Given the description of an element on the screen output the (x, y) to click on. 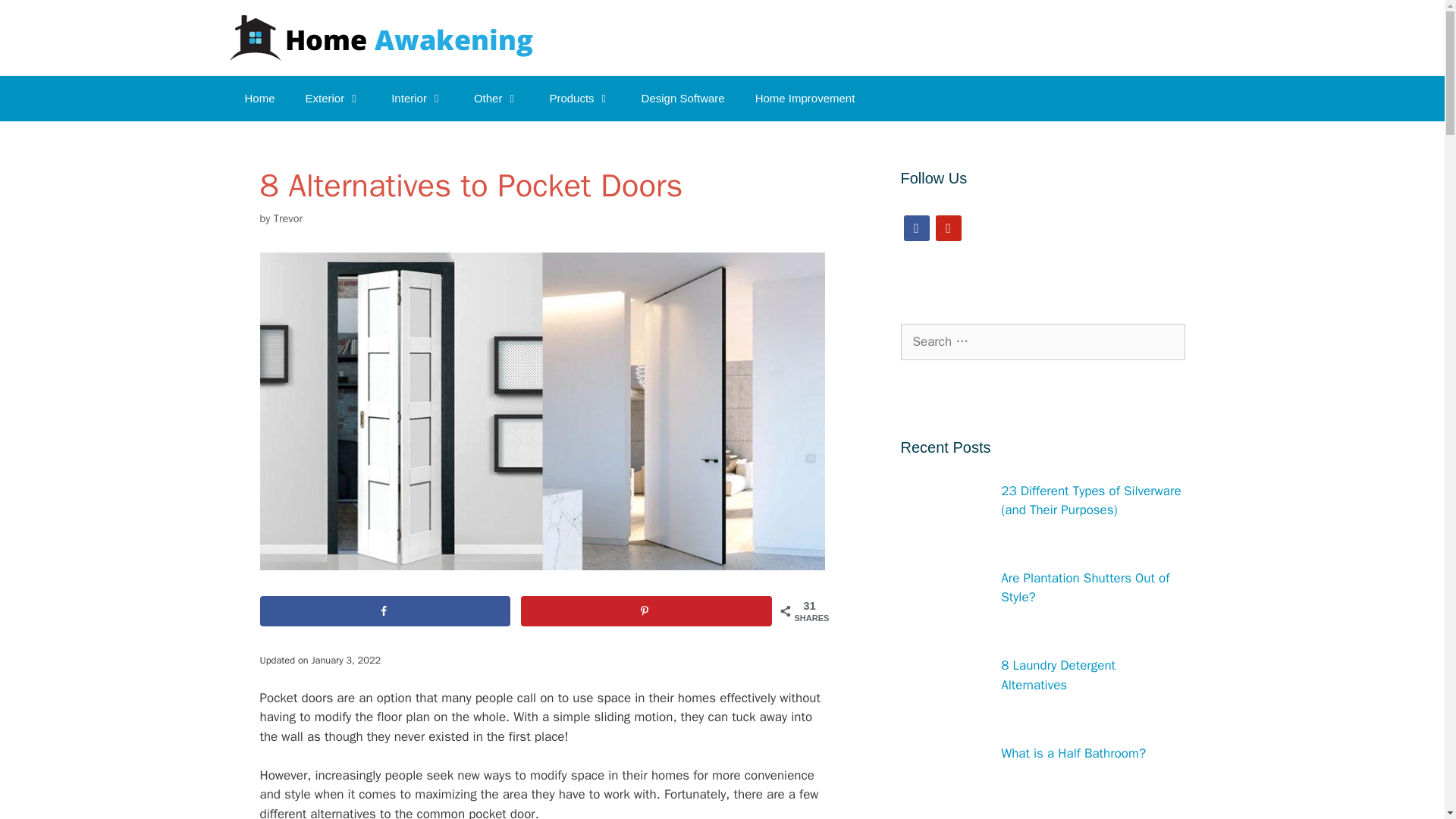
Trevor (287, 218)
View all posts by Trevor (287, 218)
Exterior (333, 98)
Products (580, 98)
Other (496, 98)
Interior (416, 98)
Design Software (682, 98)
Save to Pinterest (646, 611)
Home (258, 98)
Home Improvement (804, 98)
